Given the description of an element on the screen output the (x, y) to click on. 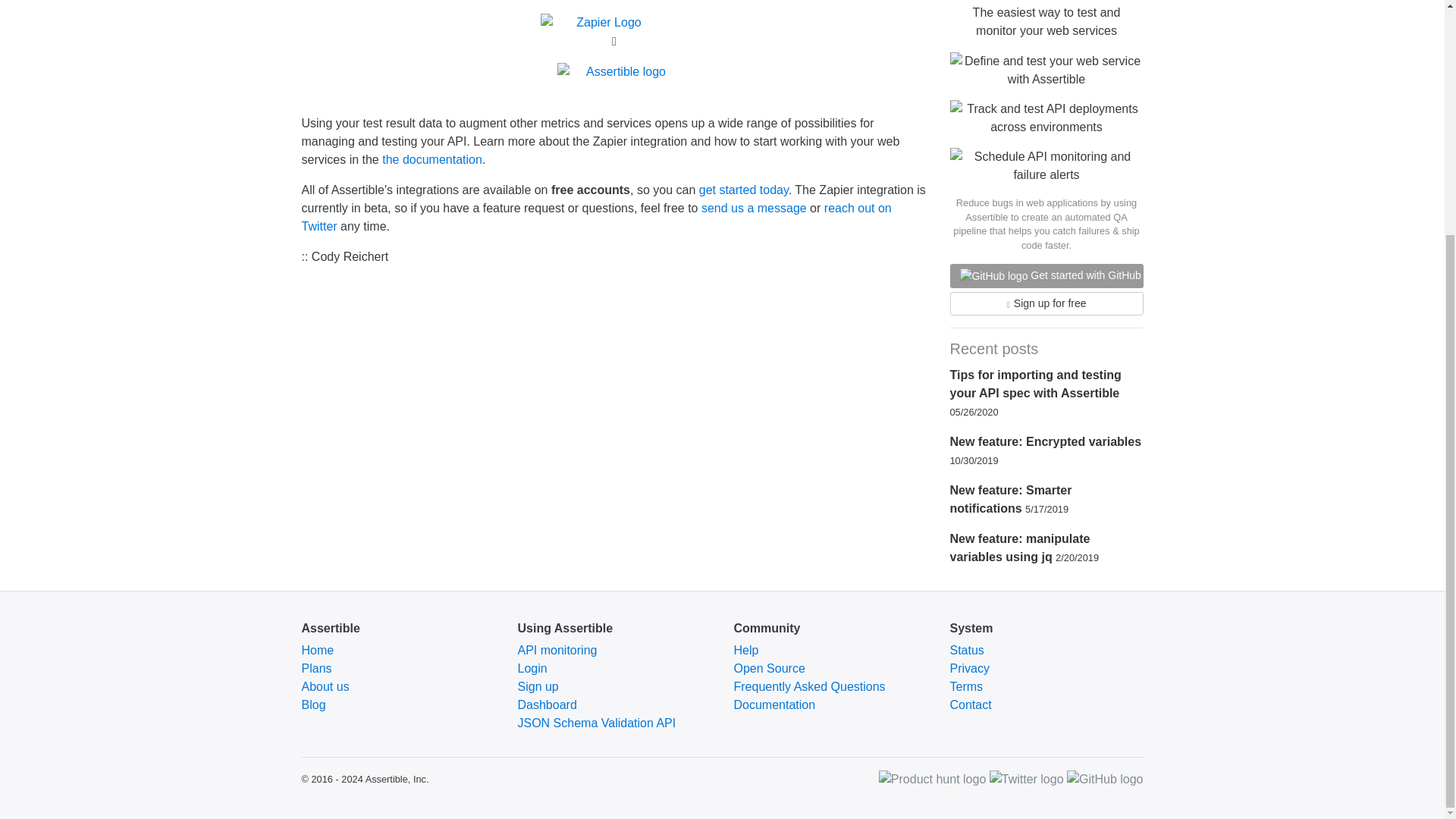
Plans (316, 667)
the documentation (431, 159)
Home (317, 649)
About us (325, 686)
reach out on Twitter (596, 216)
Blog (313, 704)
New feature: manipulate variables using jq (1019, 547)
New feature: Encrypted variables (1045, 440)
get started today (743, 189)
Sign up for free (1045, 303)
New feature: Smarter notifications (1010, 499)
Tips for importing and testing your API spec with Assertible (1035, 383)
API monitoring (556, 649)
send us a message (753, 207)
Sign up (536, 686)
